Given the description of an element on the screen output the (x, y) to click on. 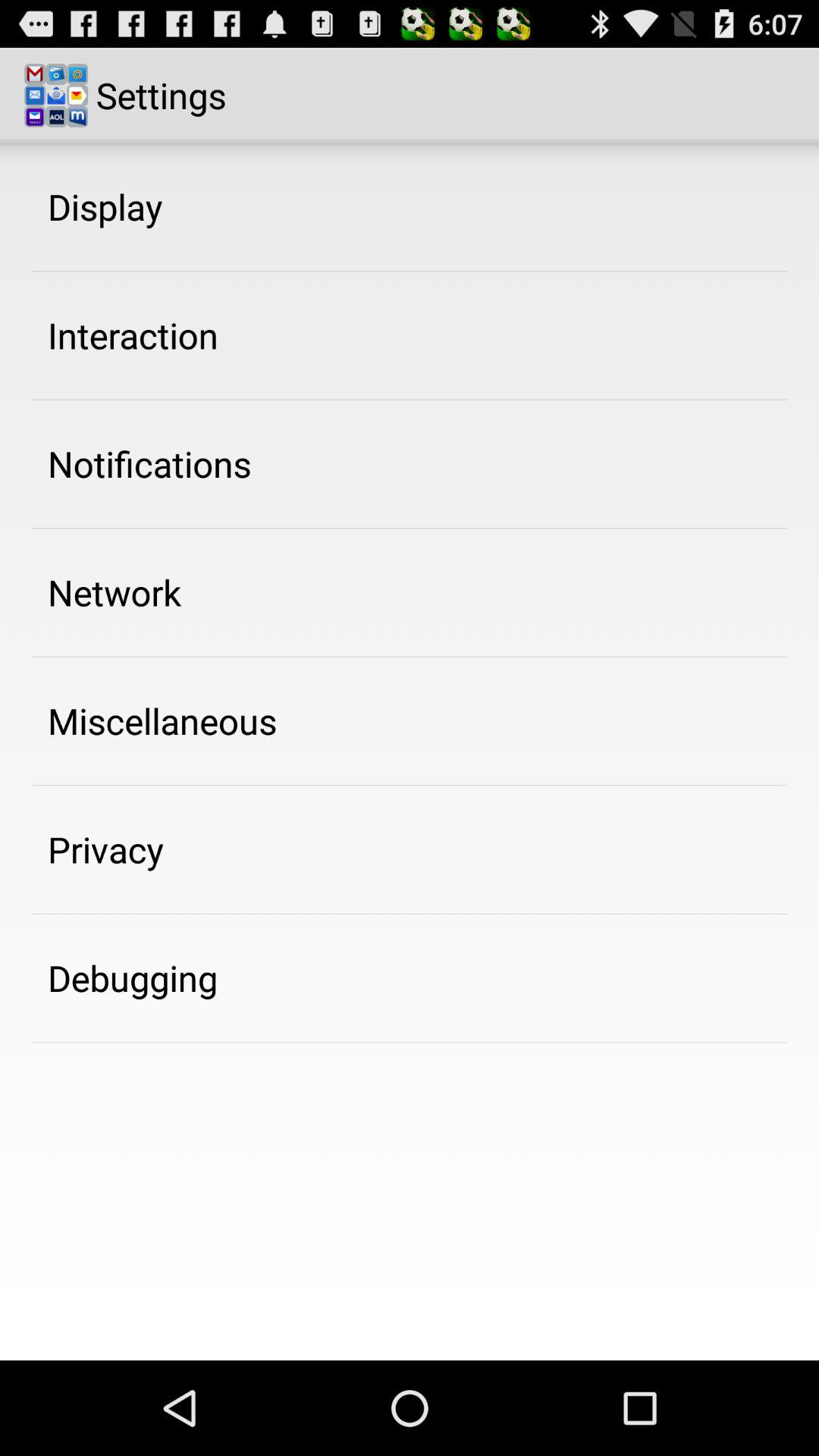
open the miscellaneous icon (161, 720)
